Given the description of an element on the screen output the (x, y) to click on. 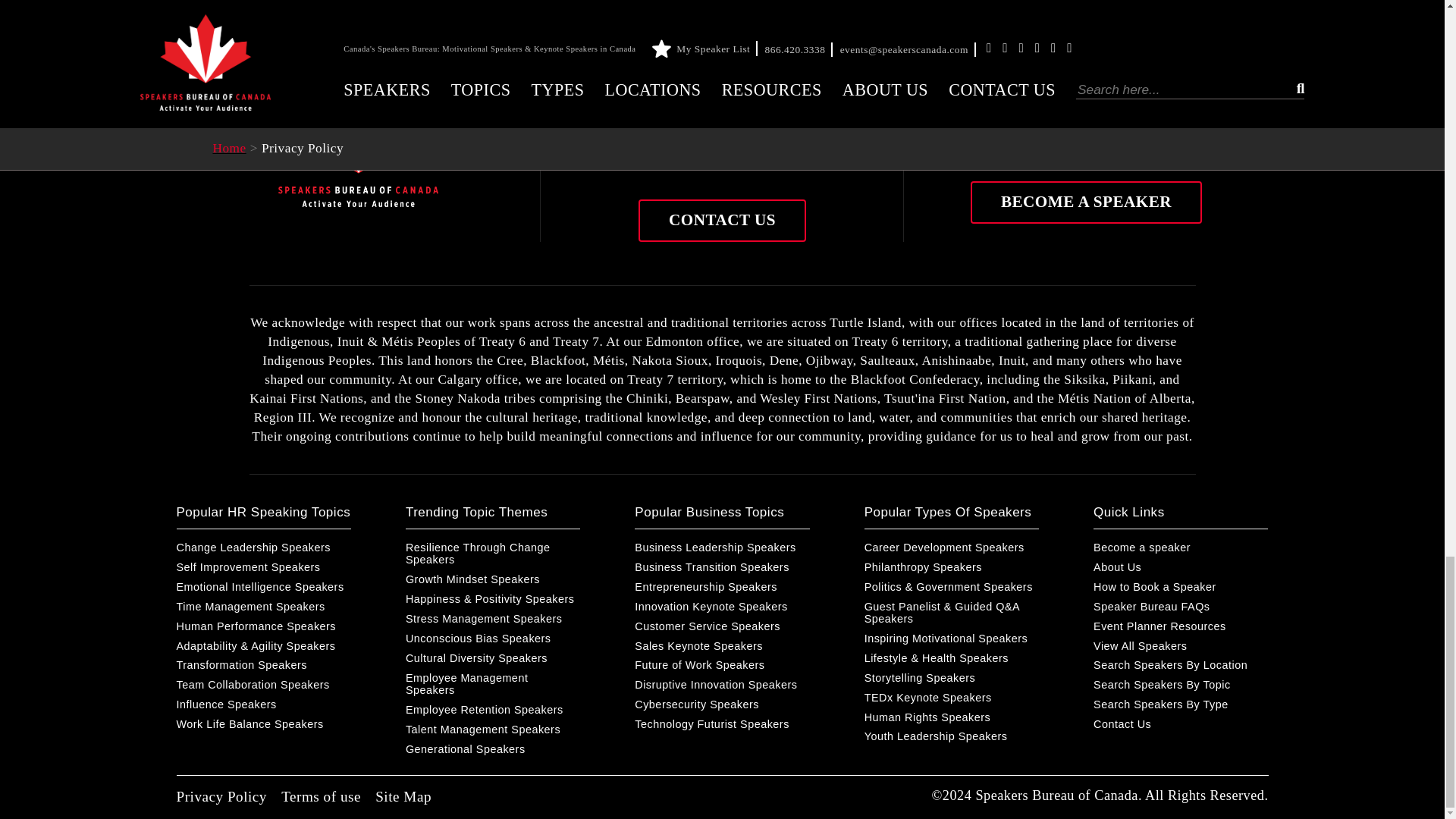
1.866.420.3338 (745, 156)
Human Performance Speakers (263, 625)
Transformation Speakers (263, 664)
Influence Speakers (263, 704)
Team Collaboration Speakers (263, 684)
Work Life Balance Speakers (263, 724)
Time Management Speakers (263, 606)
BECOME A SPEAKER (1086, 201)
Change Leadership Speakers (263, 547)
Speakers Bureau of Canada (358, 148)
